Given the description of an element on the screen output the (x, y) to click on. 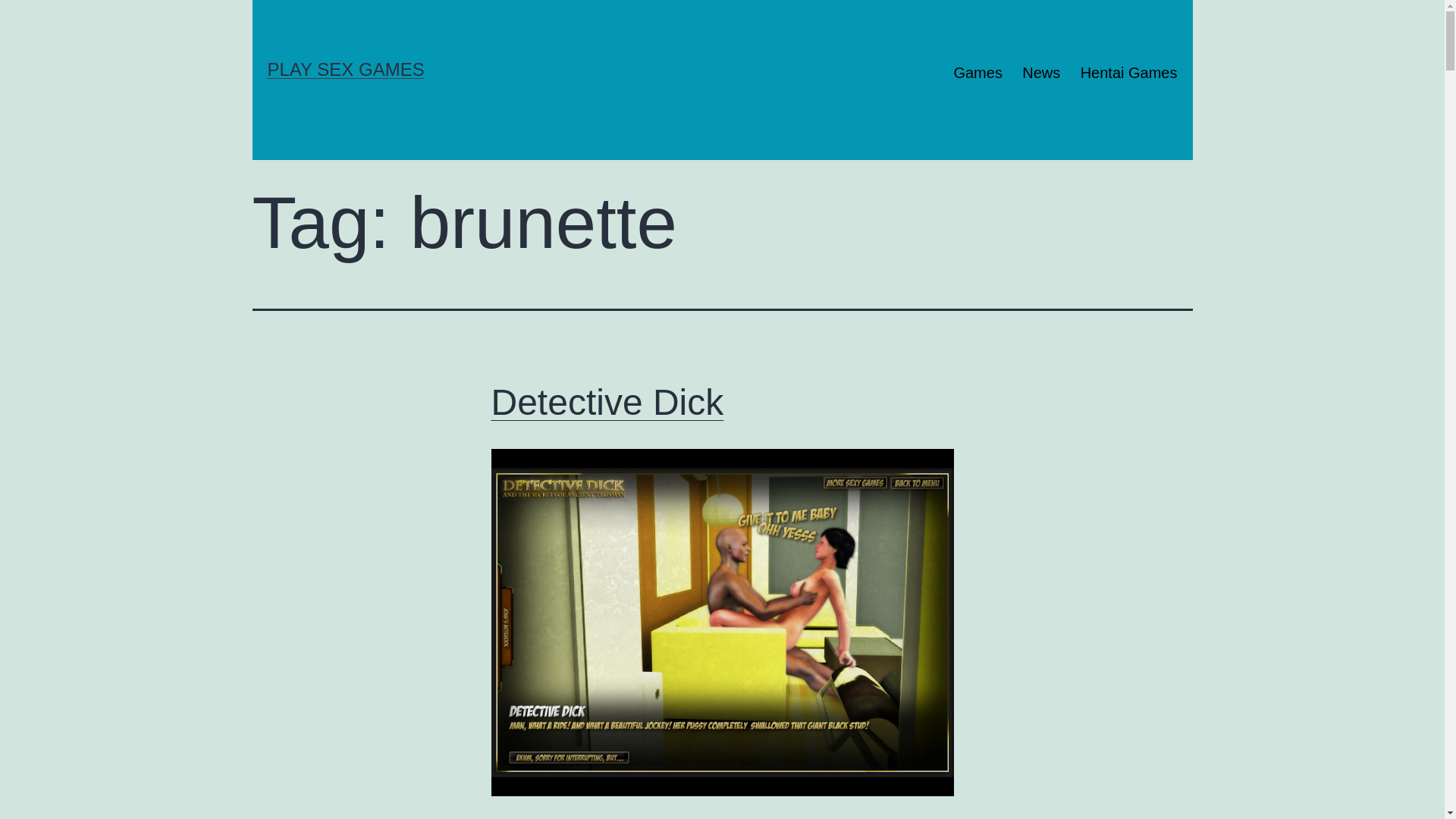
Detective Dick Element type: text (607, 402)
News Element type: text (1041, 72)
Games Element type: text (977, 72)
PLAY SEX GAMES Element type: text (344, 69)
Hentai Games Element type: text (1128, 72)
